Given the description of an element on the screen output the (x, y) to click on. 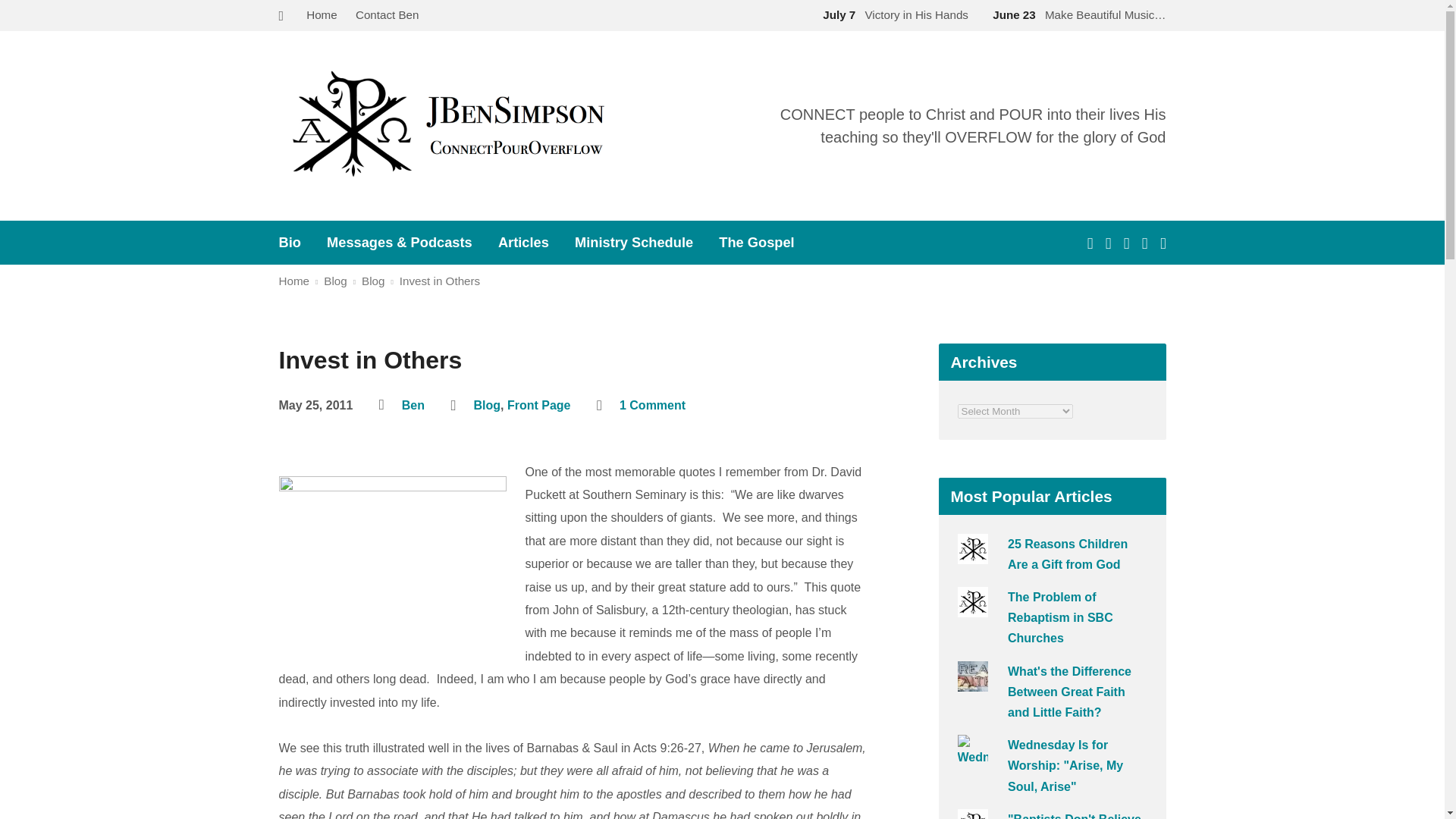
Victory in His Hands (892, 14)
Home (294, 280)
25 Reasons Children Are a Gift from God (1066, 553)
Ministry Schedule (634, 242)
1 Comment (652, 404)
On the Shoulders of Einstein (392, 561)
July 7 Victory in His Hands (892, 14)
1 Comment (652, 404)
Front Page (538, 404)
Blog (486, 404)
25 Reasons Children Are a Gift from God (1066, 553)
Bio (290, 242)
The Gospel (756, 242)
Contact Ben (387, 14)
Home (321, 14)
